Given the description of an element on the screen output the (x, y) to click on. 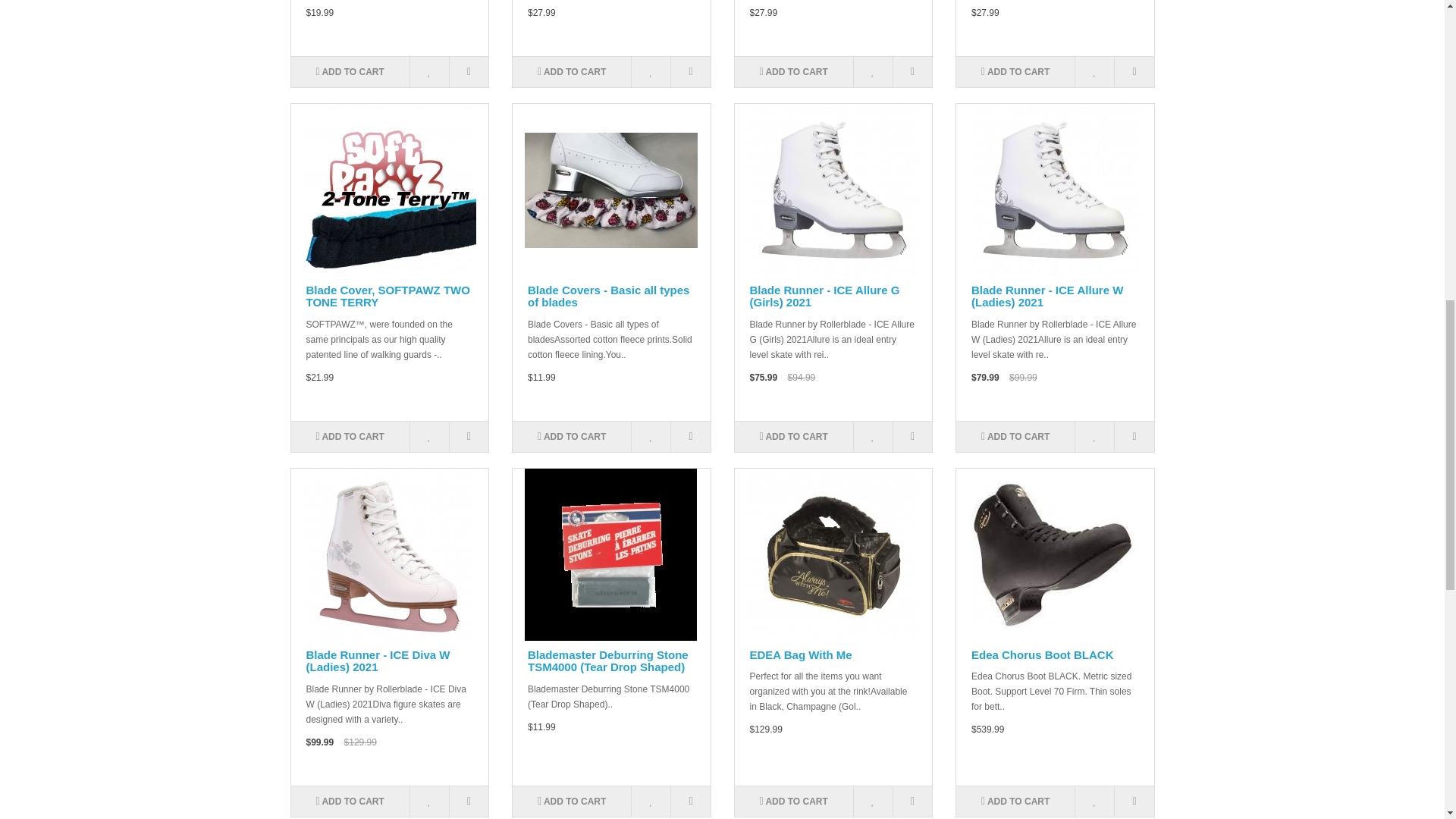
Blade Cover, SOFTPAWZ TWO TONE TERRY (389, 190)
